Given the description of an element on the screen output the (x, y) to click on. 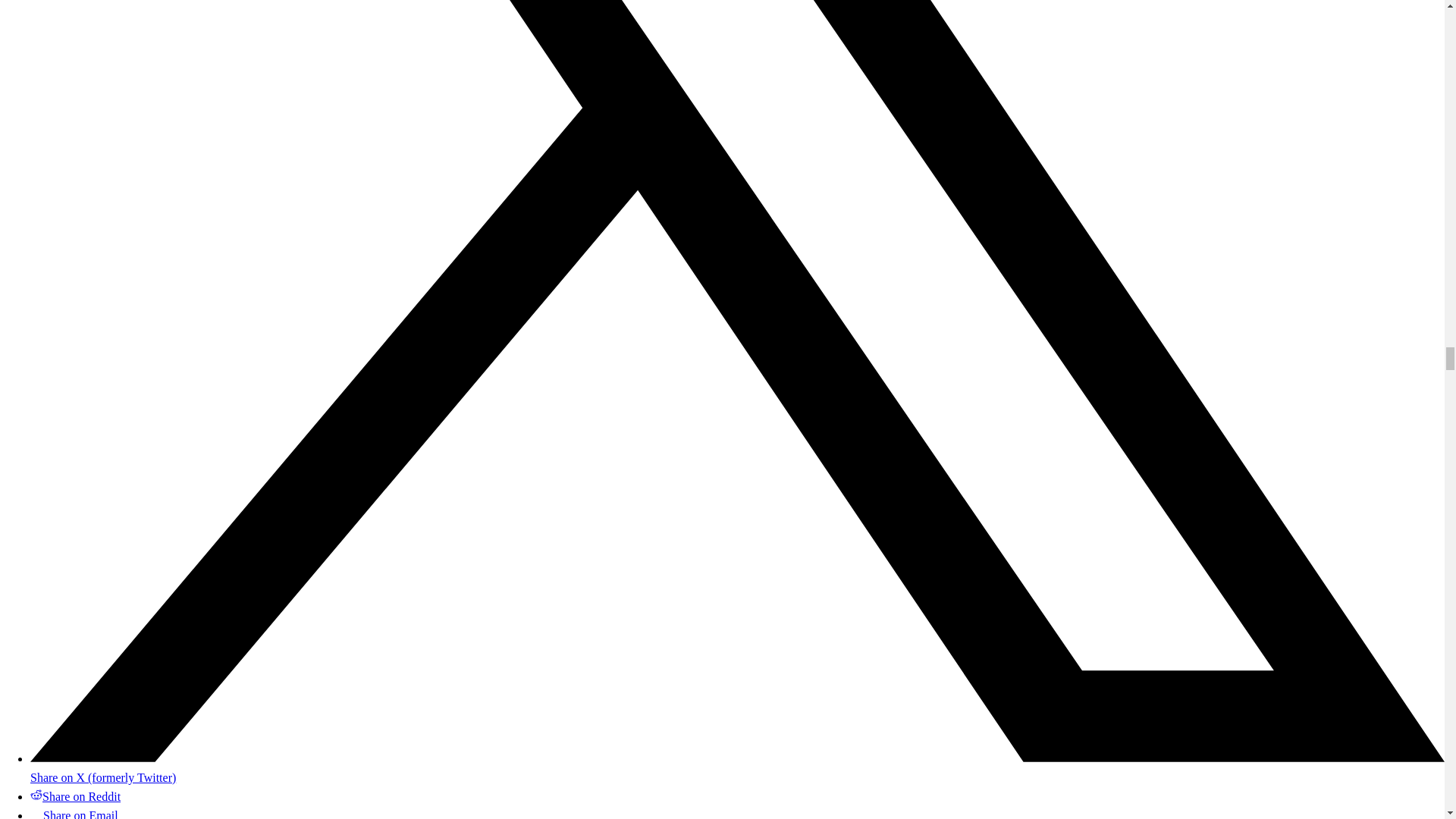
Share on Reddit (75, 796)
Share on Email (73, 814)
